Given the description of an element on the screen output the (x, y) to click on. 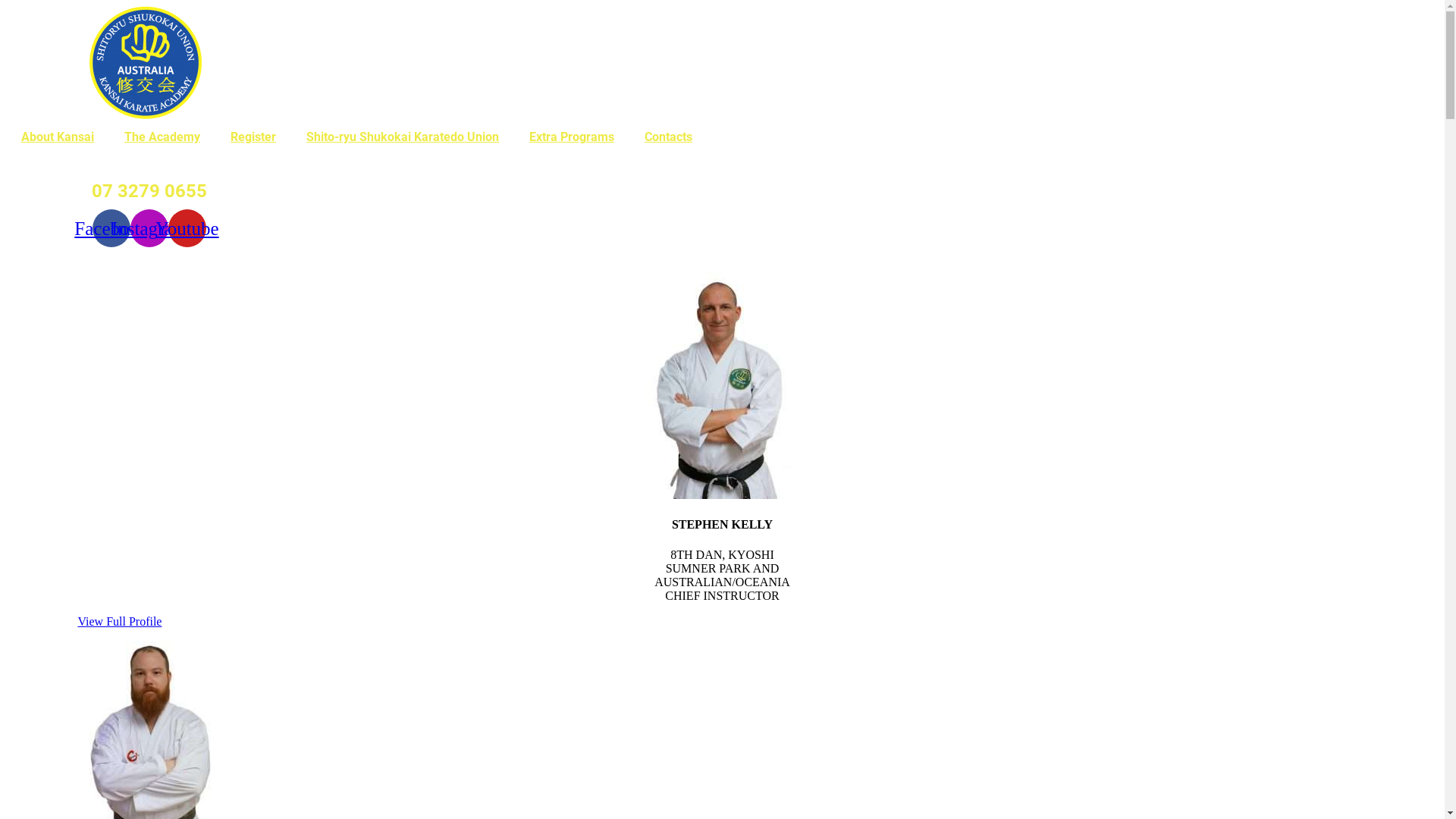
Shito-ryu Shukokai Karatedo Union Element type: text (402, 136)
Contacts Element type: text (668, 136)
View Full Profile Element type: text (119, 621)
Register Element type: text (253, 136)
The Academy Element type: text (162, 136)
Instagram Element type: text (149, 228)
Extra Programs Element type: text (571, 136)
Youtube Element type: text (187, 228)
Facebook Element type: text (111, 228)
About Kansai Element type: text (57, 136)
